Given the description of an element on the screen output the (x, y) to click on. 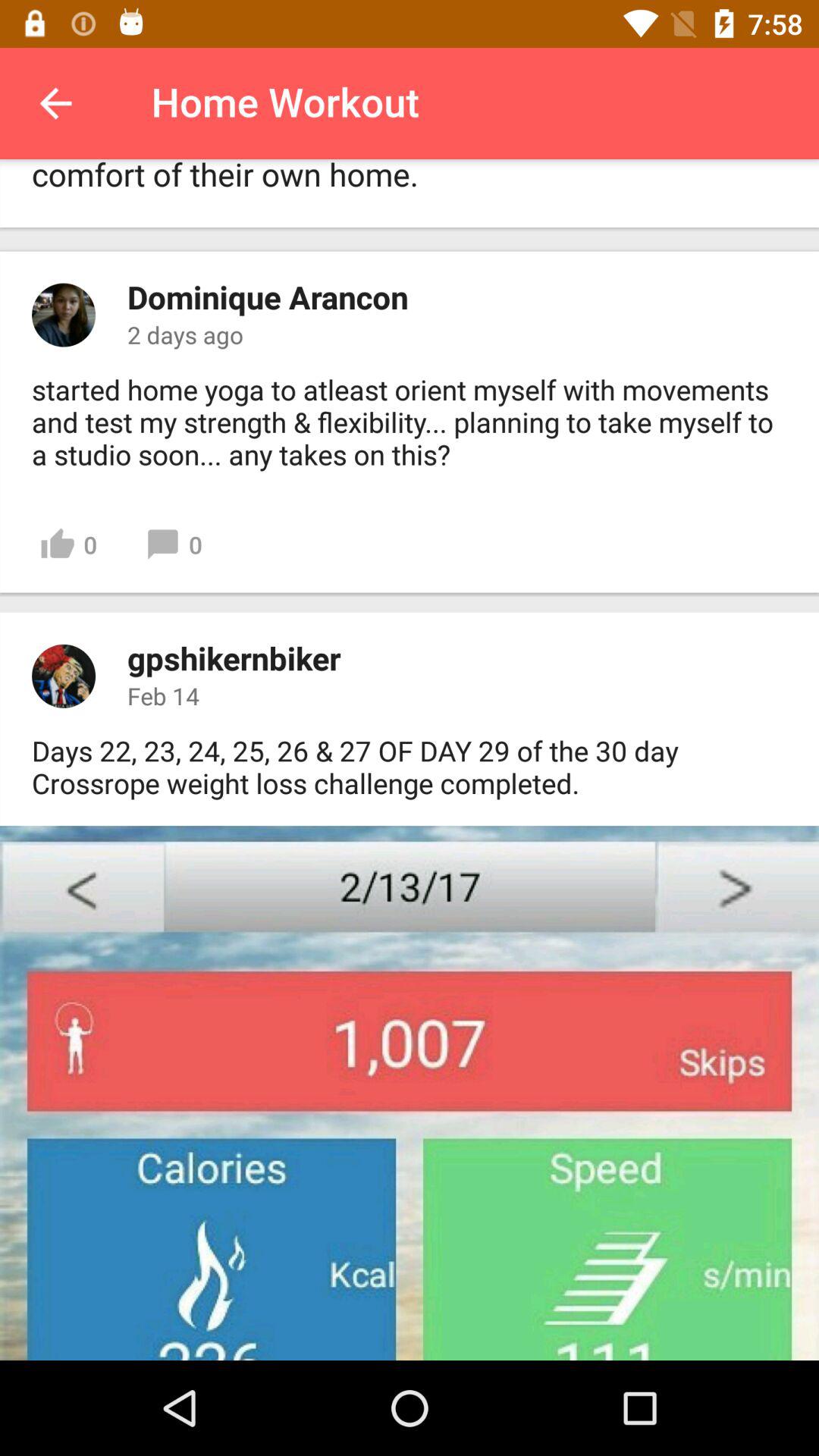
comments (63, 314)
